Given the description of an element on the screen output the (x, y) to click on. 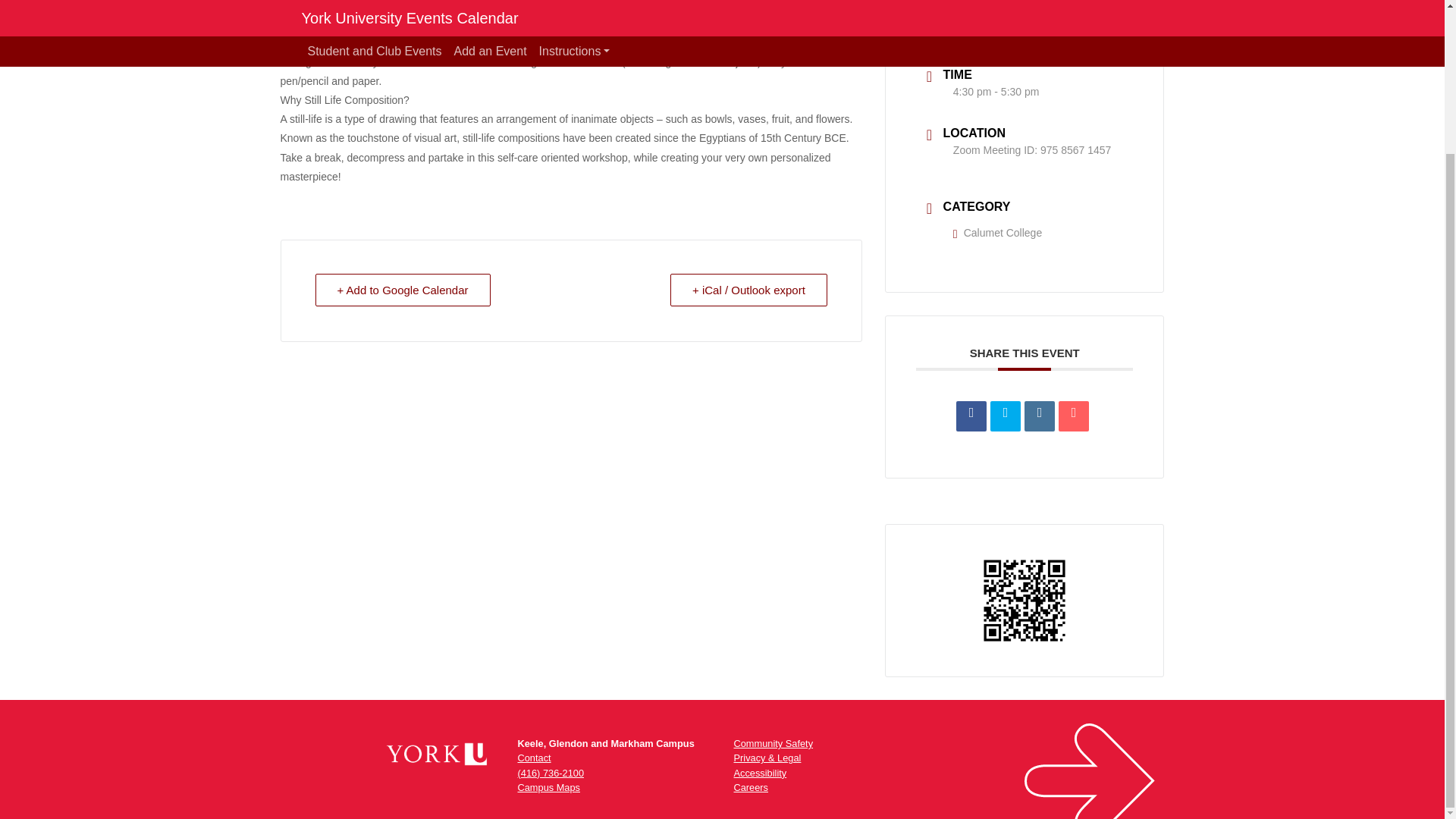
Accessibility (760, 772)
Careers (750, 787)
Share on Facebook (971, 416)
Community Safety (773, 743)
Contact (533, 757)
Linkedin (1039, 416)
Tweet (1005, 416)
Campus Maps (547, 787)
Email (1073, 416)
Calumet College (997, 232)
